Given the description of an element on the screen output the (x, y) to click on. 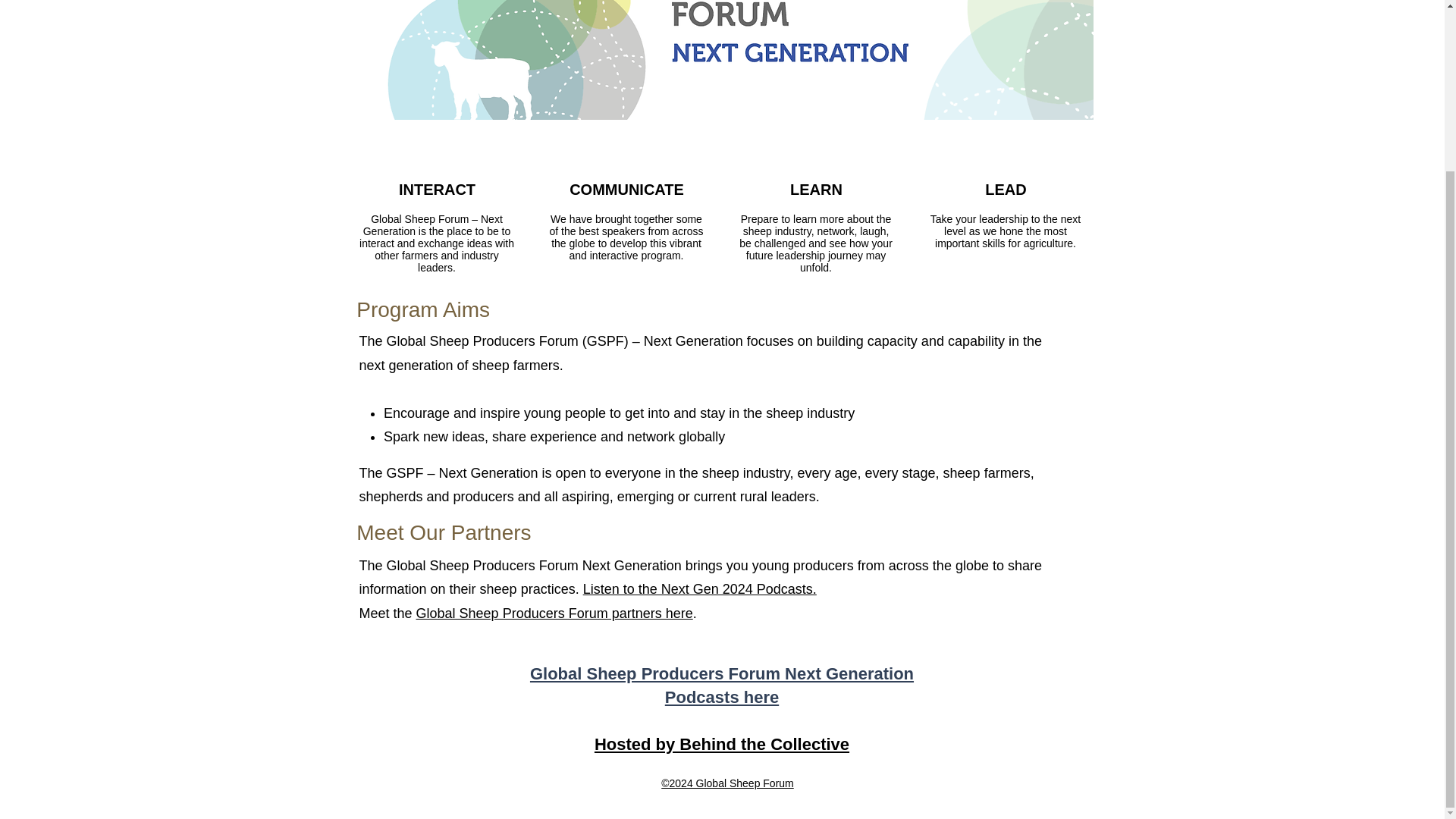
Listen to the Next Gen 2024 Podcasts. (699, 589)
Hosted by Behind the Collective (721, 743)
Global Sheep Producers Forum Next Generation Podcasts here (721, 685)
Global Sheep Producers Forum partners here (554, 613)
